Given the description of an element on the screen output the (x, y) to click on. 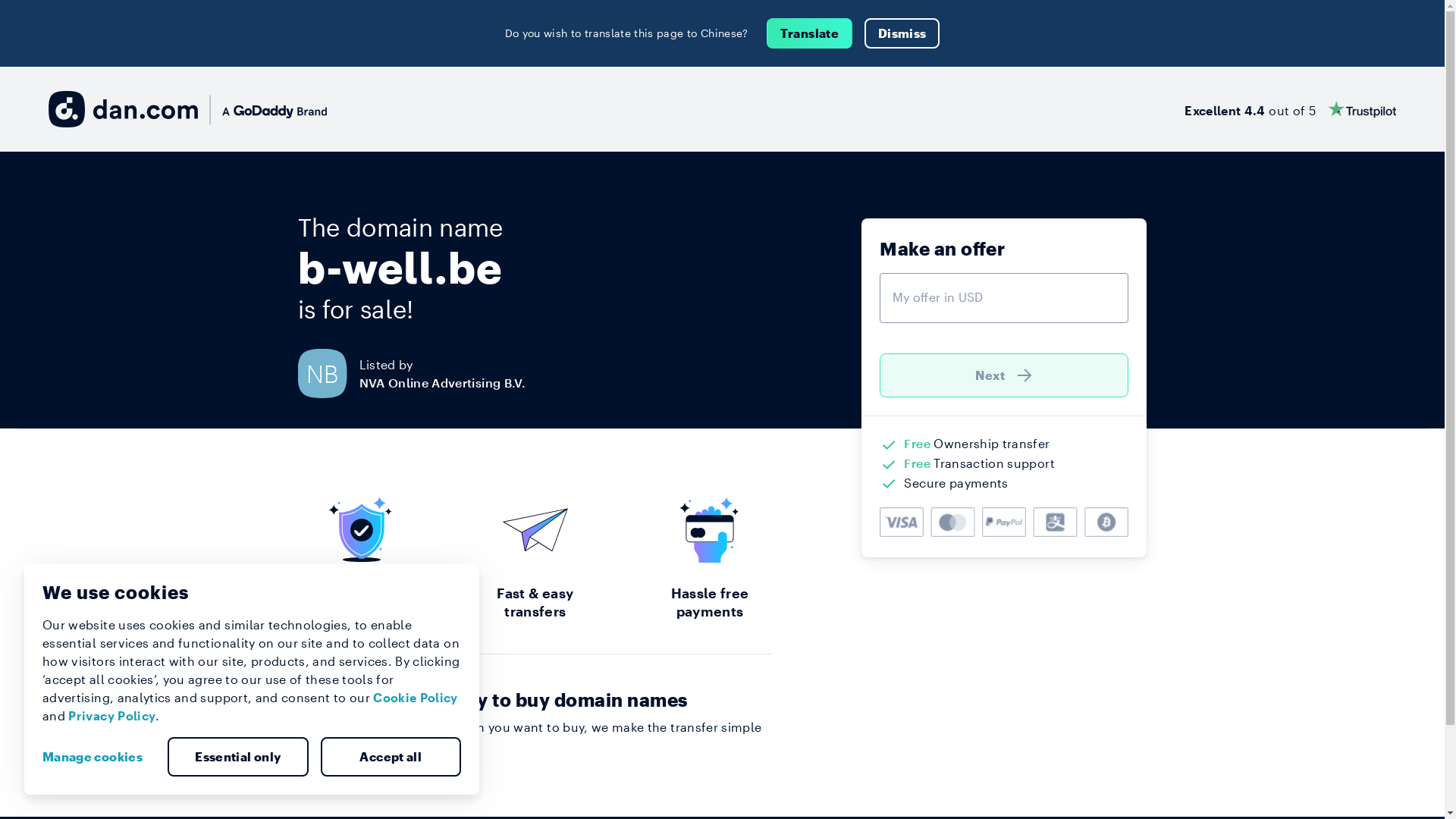
Translate Element type: text (809, 33)
Essential only Element type: text (237, 756)
Excellent 4.4 out of 5 Element type: text (1290, 109)
Cookie Policy Element type: text (415, 697)
Manage cookies Element type: text (98, 756)
Dismiss Element type: text (901, 33)
Next
) Element type: text (1003, 375)
Privacy Policy Element type: text (111, 715)
Accept all Element type: text (390, 756)
